Given the description of an element on the screen output the (x, y) to click on. 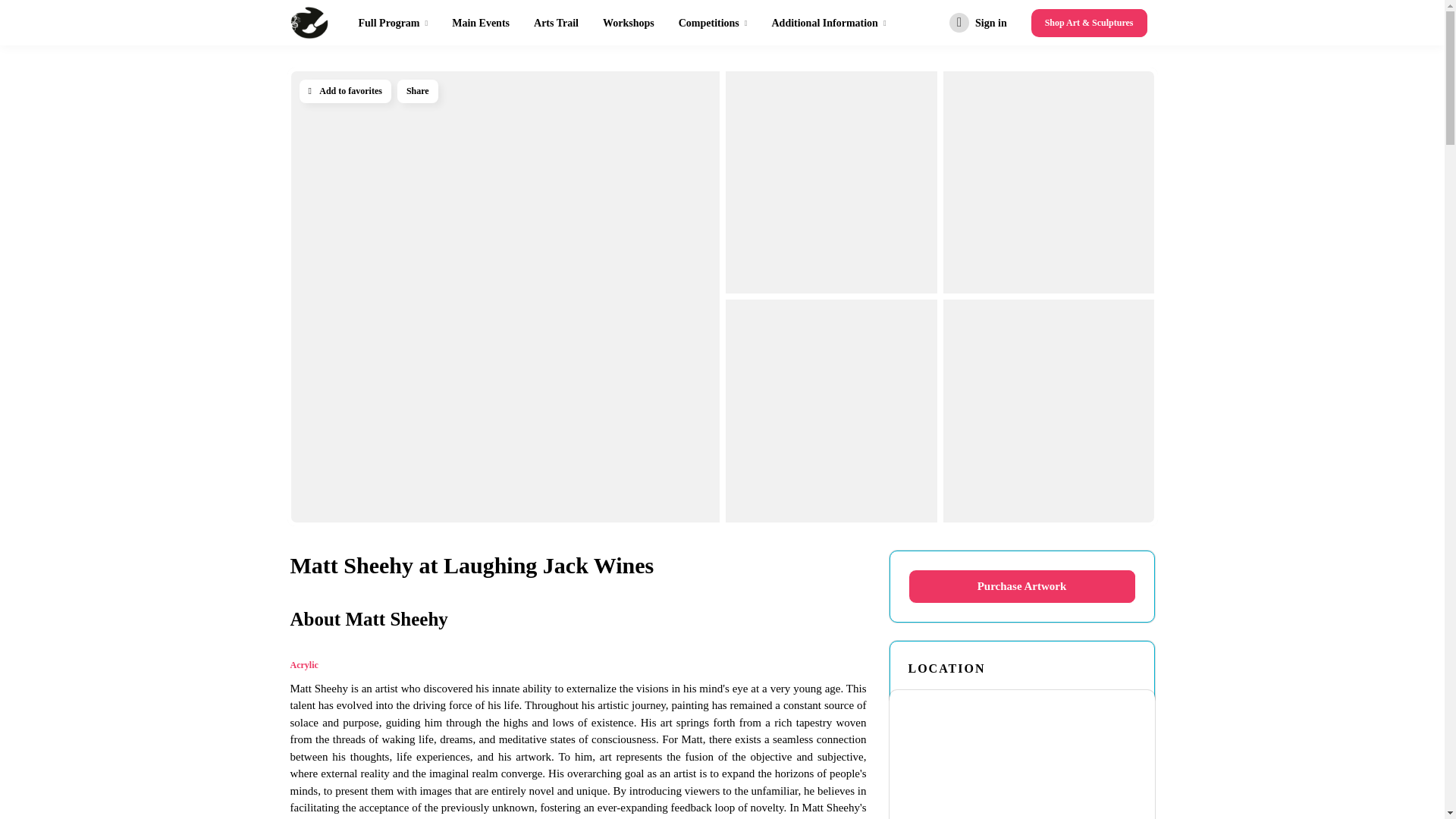
Share (417, 91)
Additional Information (828, 23)
Competitions (713, 23)
Arts Trail (556, 23)
Sign in (977, 22)
Workshops (628, 23)
Full Program (392, 23)
Add to favorites (344, 91)
Main Events (479, 23)
Purchase Artwork (1021, 586)
